Given the description of an element on the screen output the (x, y) to click on. 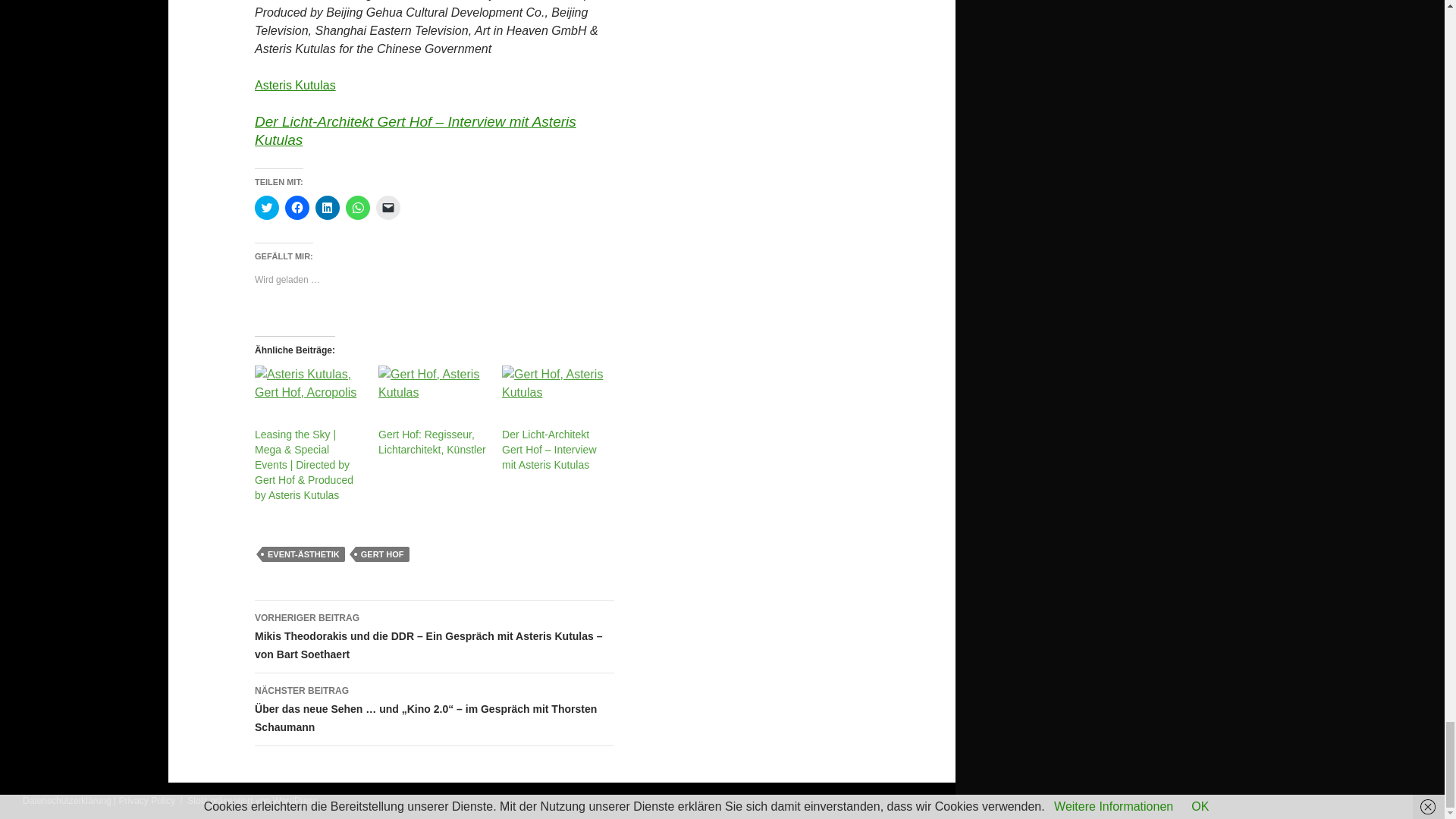
Klick, um auf Facebook zu teilen (296, 207)
GERT HOF (382, 554)
Klick, um auf LinkedIn zu teilen (327, 207)
Asteris Kutulas (295, 84)
Klicken, um auf WhatsApp zu teilen (357, 207)
Klicken, um einem Freund einen Link per E-Mail zu senden (387, 207)
